Given the description of an element on the screen output the (x, y) to click on. 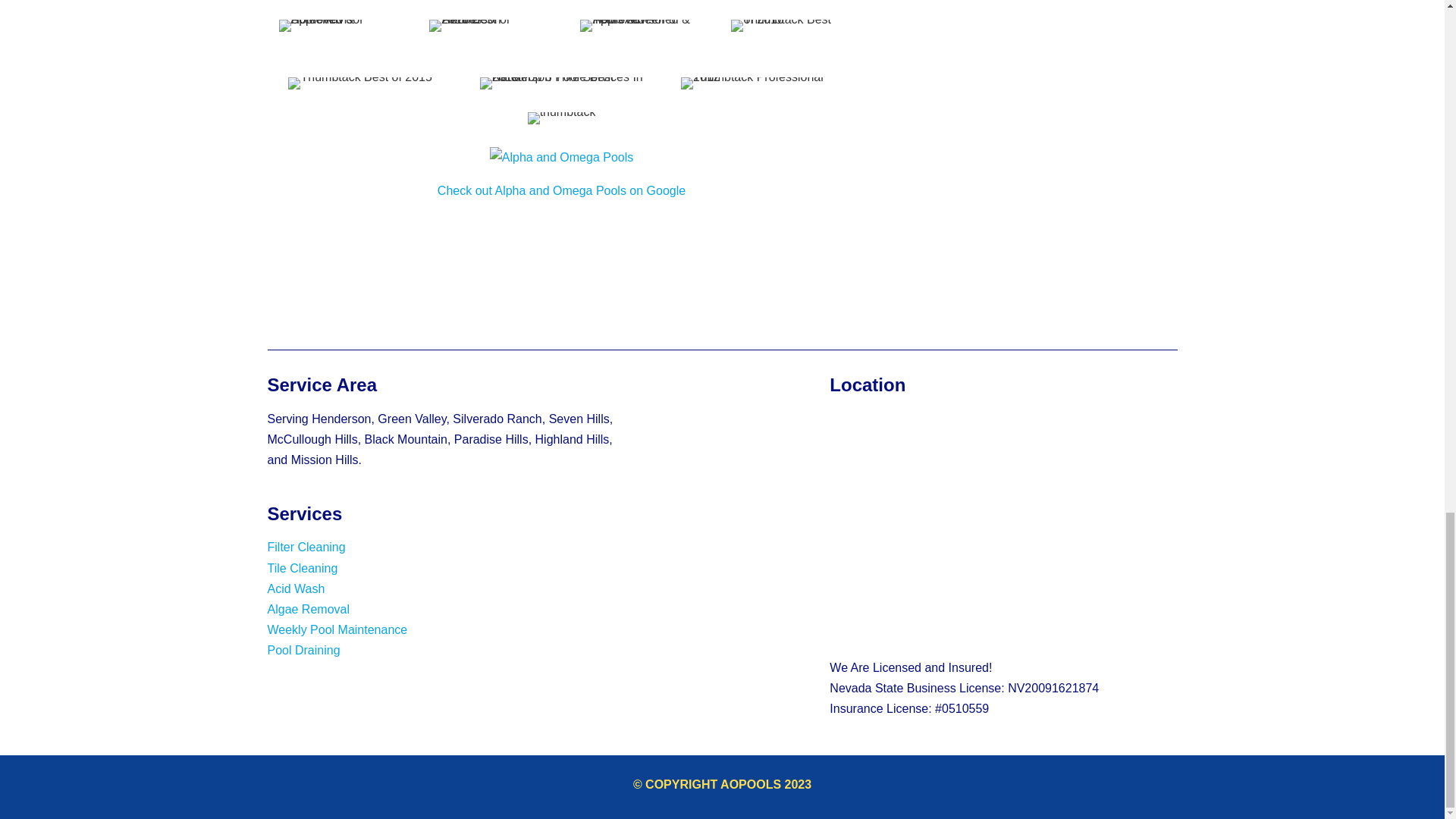
Thumbtack Best of 2015 (359, 82)
Thumbtack Professional 2012 (762, 82)
2016 Best of Henderson Awards (485, 25)
Thumbtack Best of 2016 (787, 25)
2019 Top 3 Pool Services In Henderson Three Best Rated (561, 82)
thumbtack (561, 118)
